Given the description of an element on the screen output the (x, y) to click on. 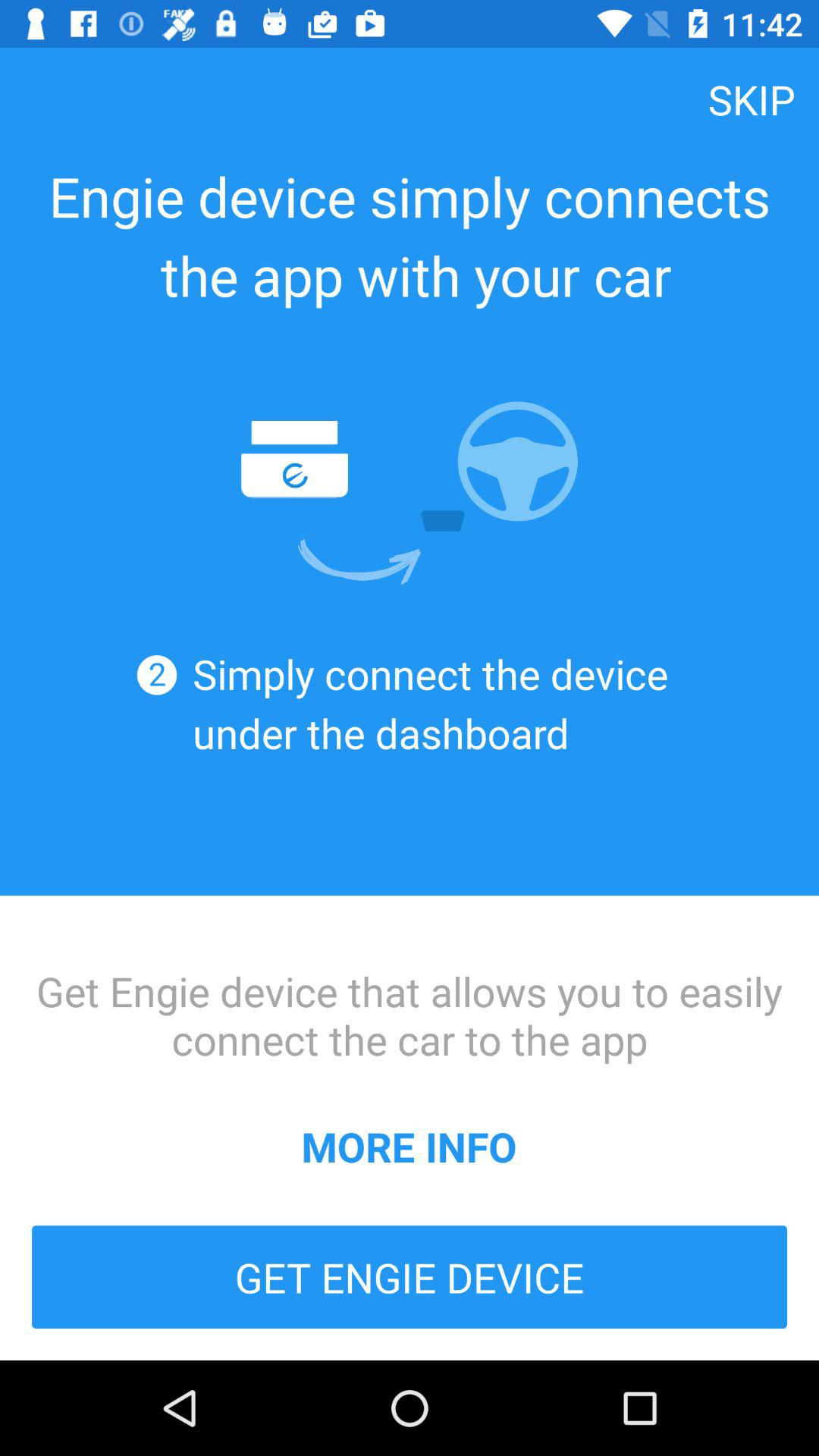
tap icon below get engie device icon (408, 1145)
